Given the description of an element on the screen output the (x, y) to click on. 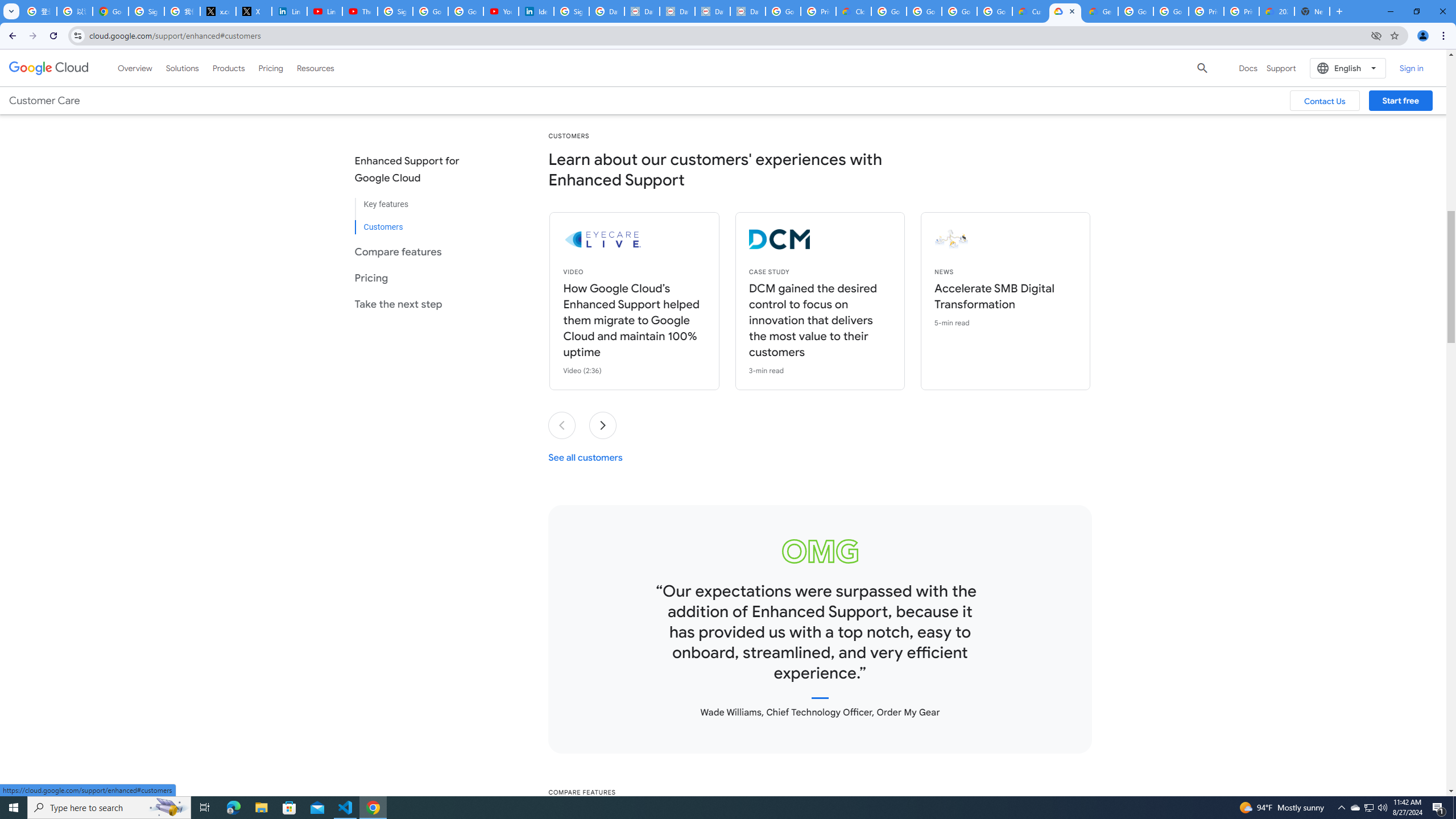
Start free (1400, 100)
Google Workspace - Specific Terms (994, 11)
X (253, 11)
Key features (416, 204)
Resources (314, 67)
Data Privacy Framework (747, 11)
Solutions (181, 67)
Gemini for Business and Developers | Google Cloud (1099, 11)
Enhanced Support | Google Cloud (1064, 11)
